Given the description of an element on the screen output the (x, y) to click on. 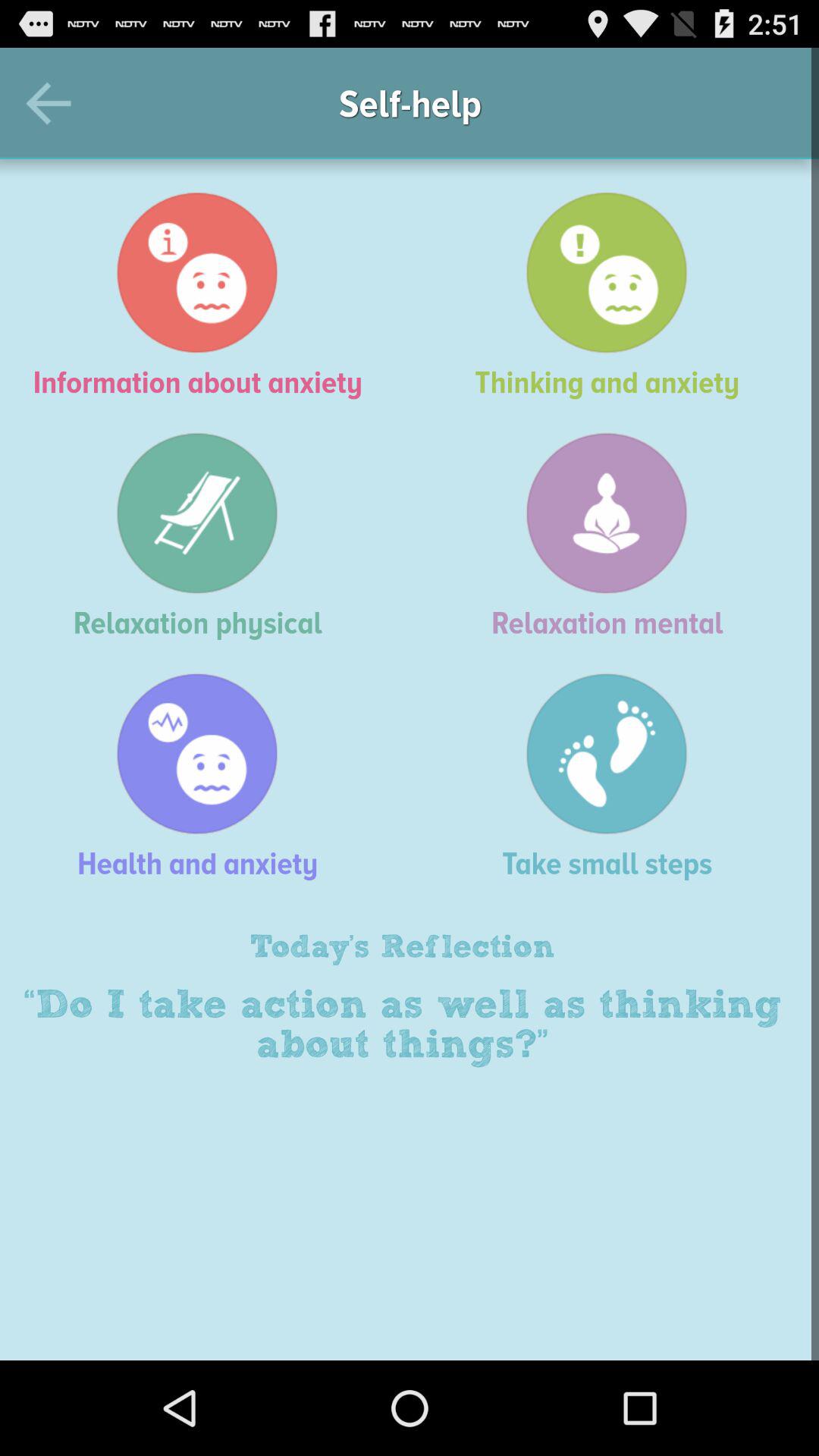
launch the information about anxiety icon (204, 295)
